Given the description of an element on the screen output the (x, y) to click on. 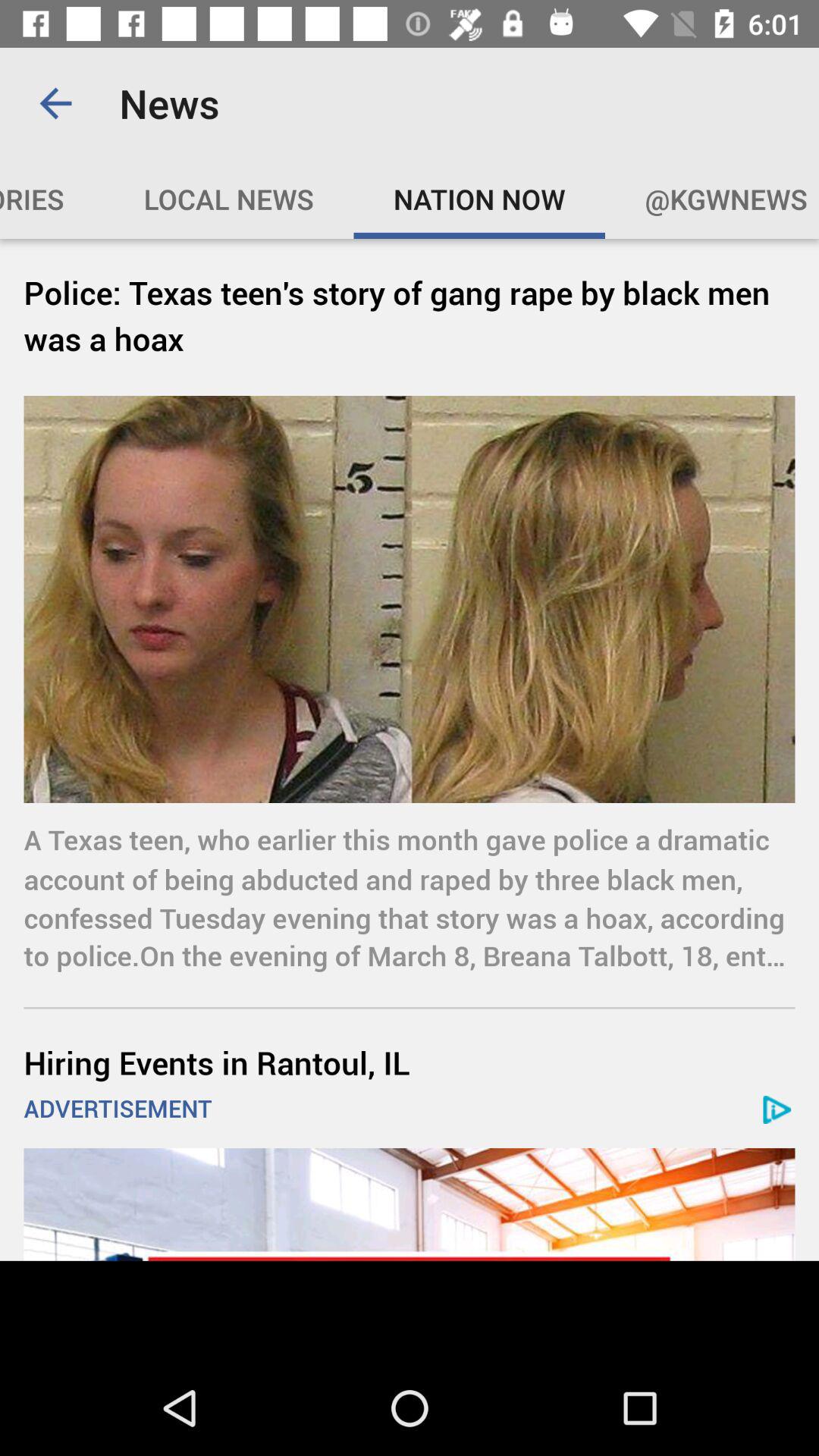
select advertisement (409, 1204)
